Given the description of an element on the screen output the (x, y) to click on. 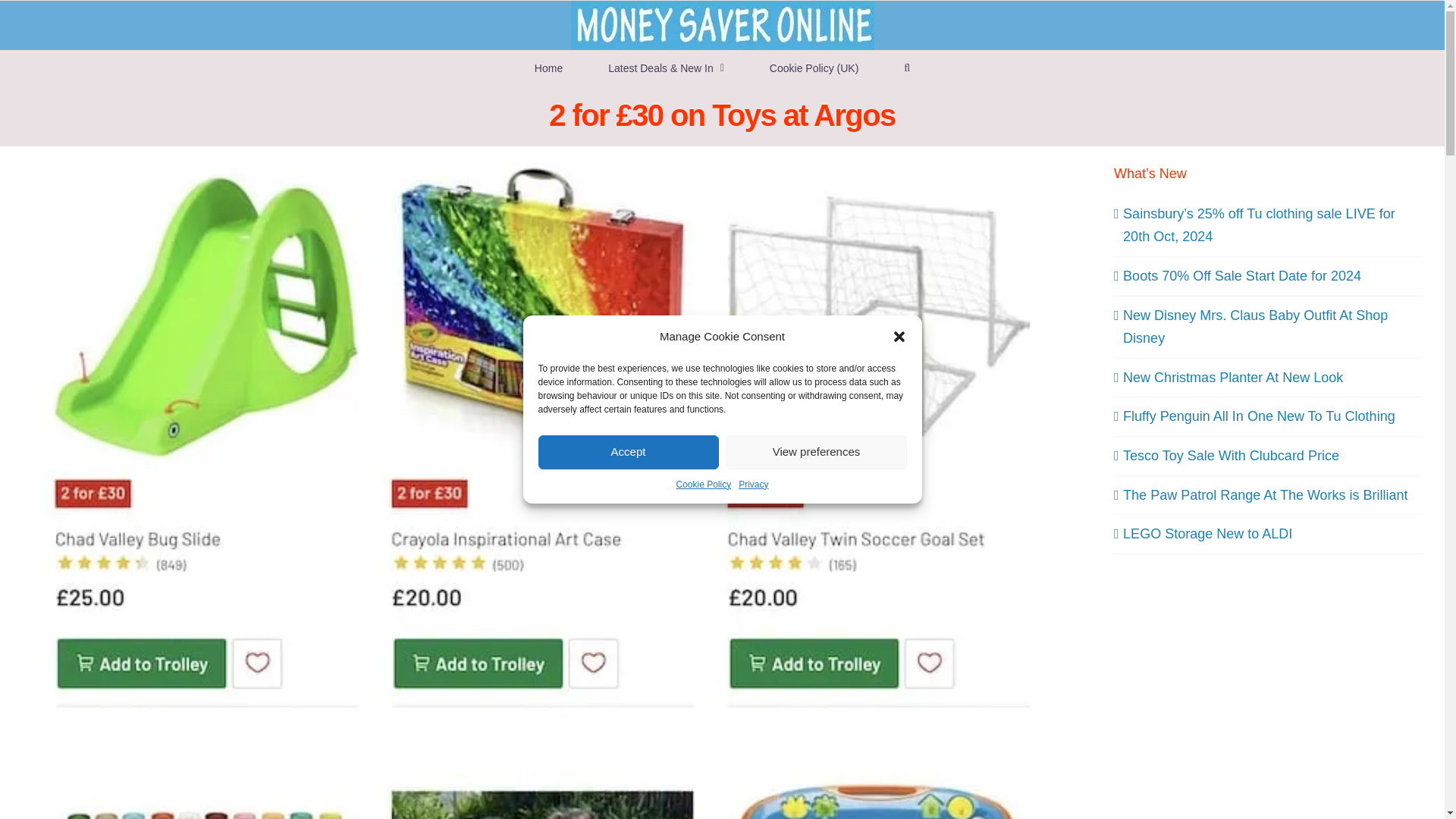
Search (907, 67)
Home (548, 67)
Cookie Policy (702, 484)
Accept (628, 451)
View preferences (816, 451)
Privacy (753, 484)
